Given the description of an element on the screen output the (x, y) to click on. 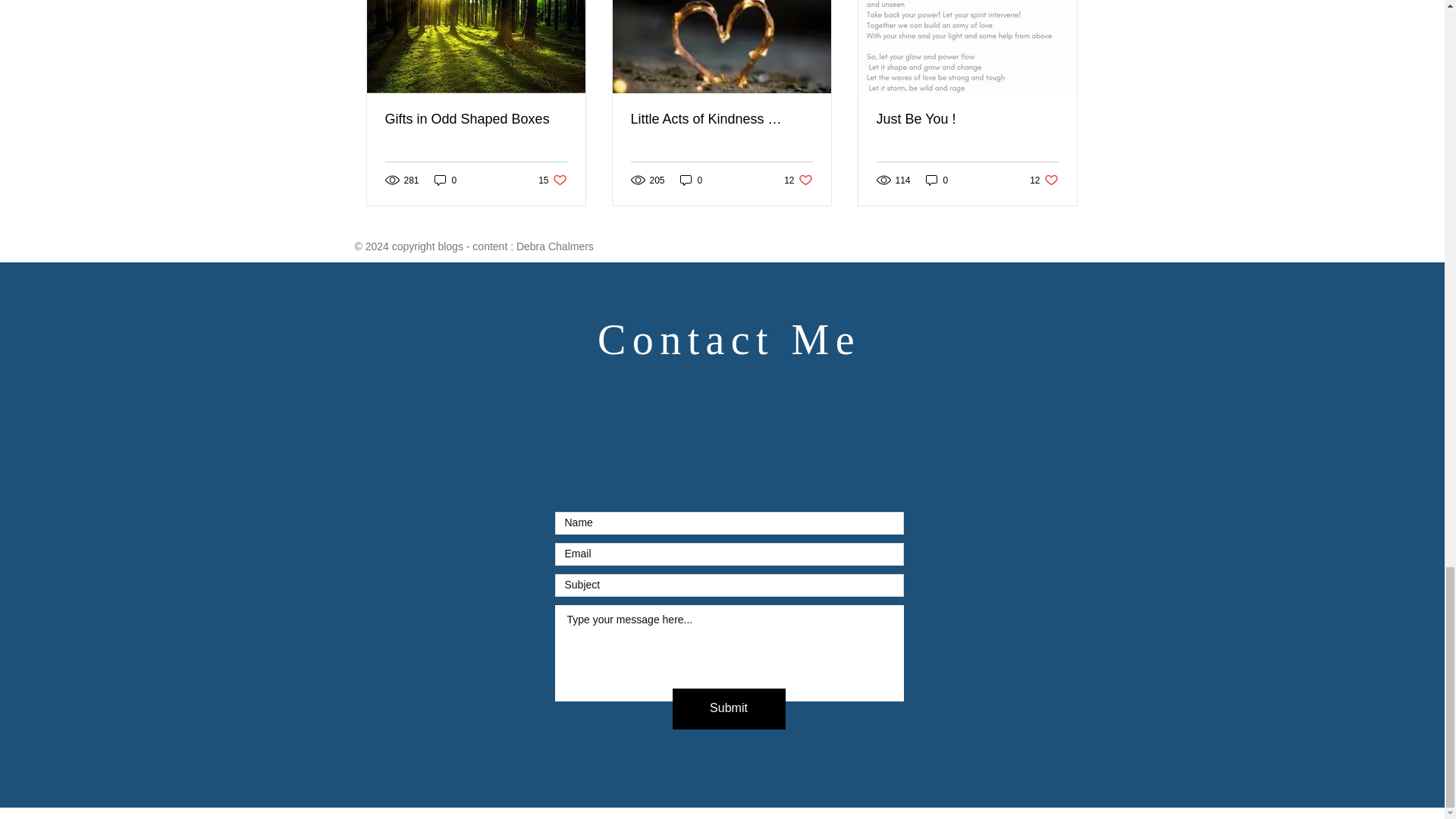
Just Be You ! (798, 179)
0 (967, 118)
0 (691, 179)
0 (445, 179)
Submit (1043, 179)
Gifts in Odd Shaped Boxes (937, 179)
